Given the description of an element on the screen output the (x, y) to click on. 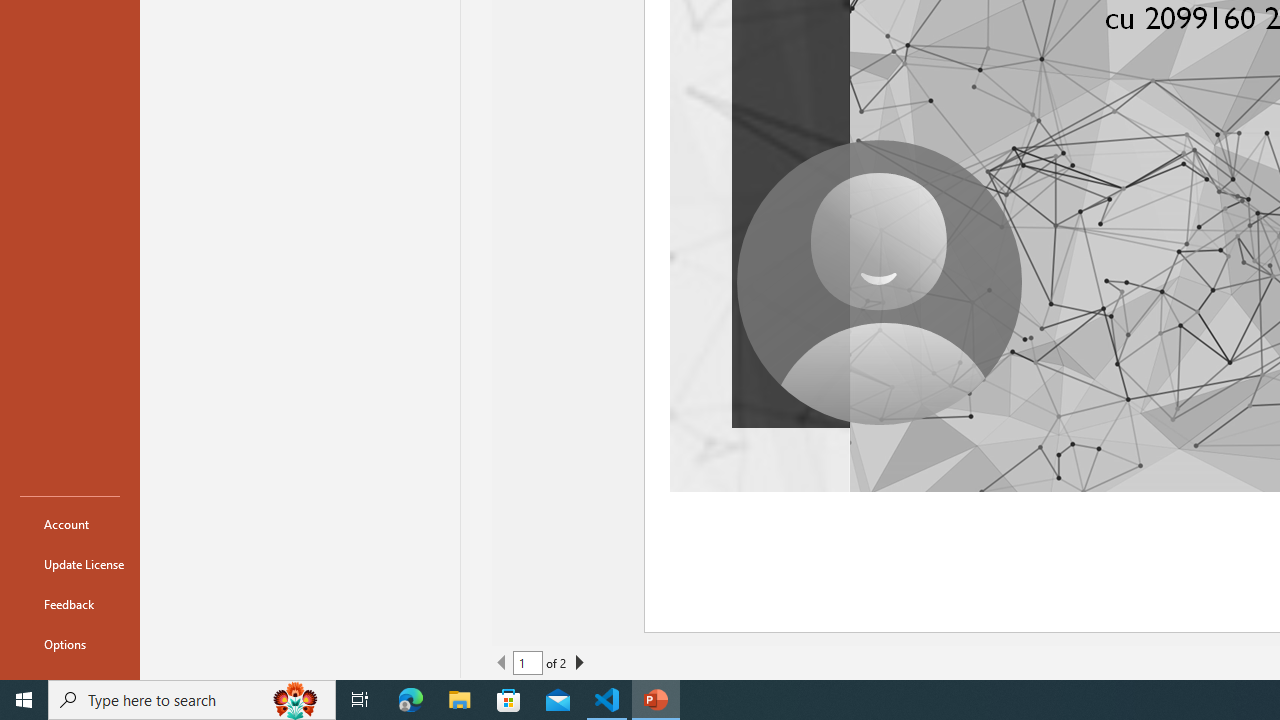
Previous Page (502, 662)
Options (69, 643)
Update License (69, 563)
Current Page (527, 662)
Next Page (579, 662)
Account (69, 523)
Feedback (69, 603)
